Given the description of an element on the screen output the (x, y) to click on. 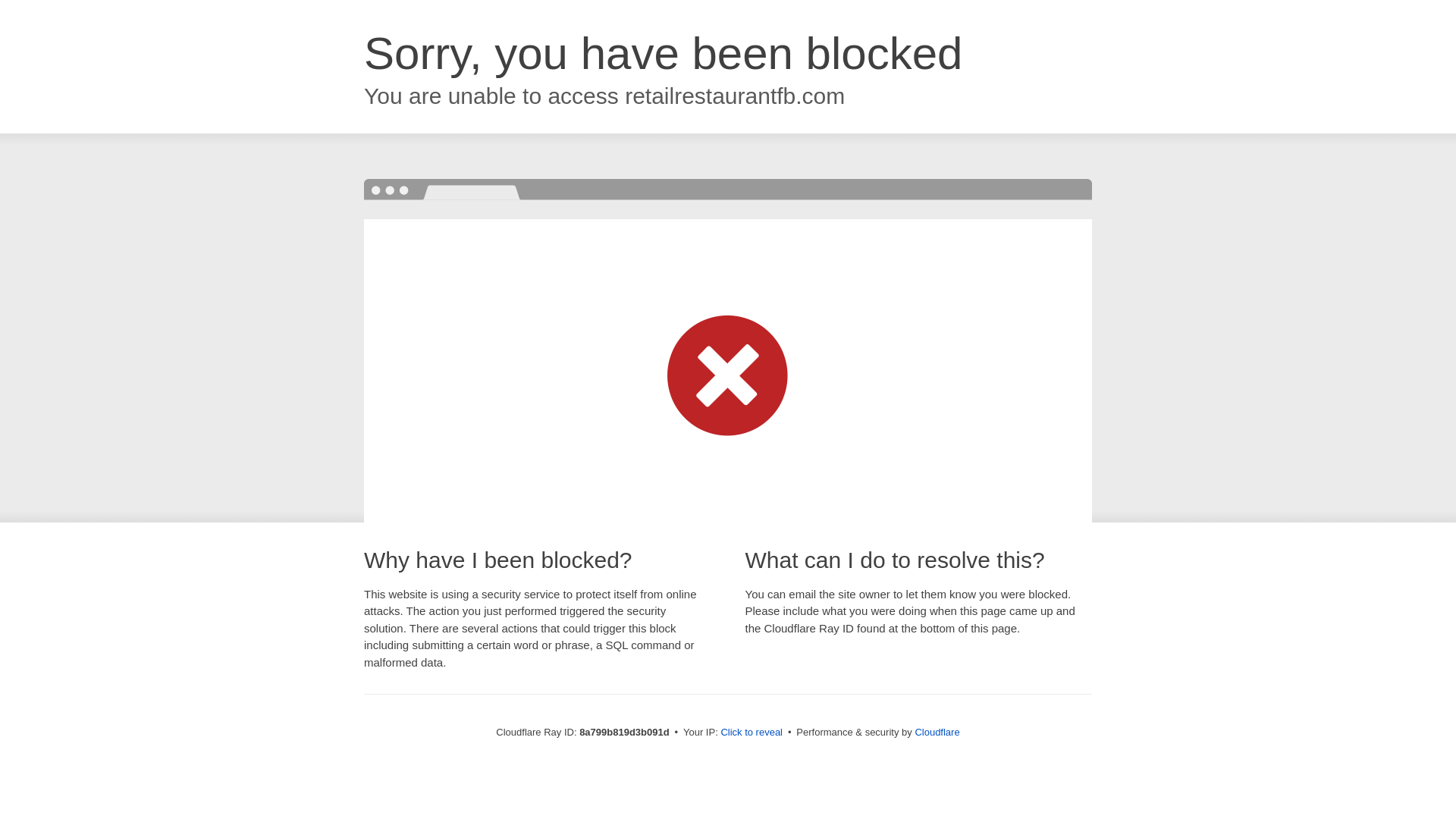
Click to reveal (751, 732)
Cloudflare (936, 731)
